Given the description of an element on the screen output the (x, y) to click on. 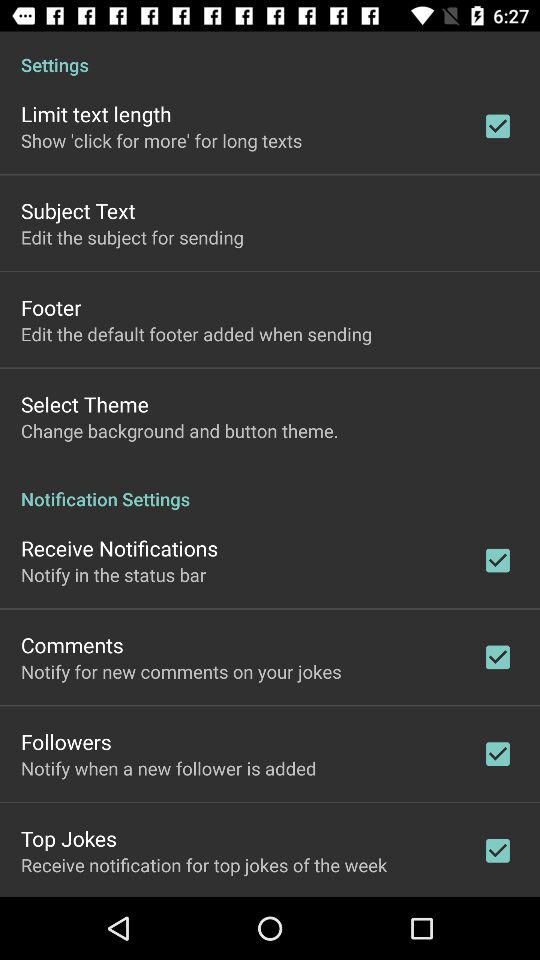
turn on app below notification settings (119, 547)
